Given the description of an element on the screen output the (x, y) to click on. 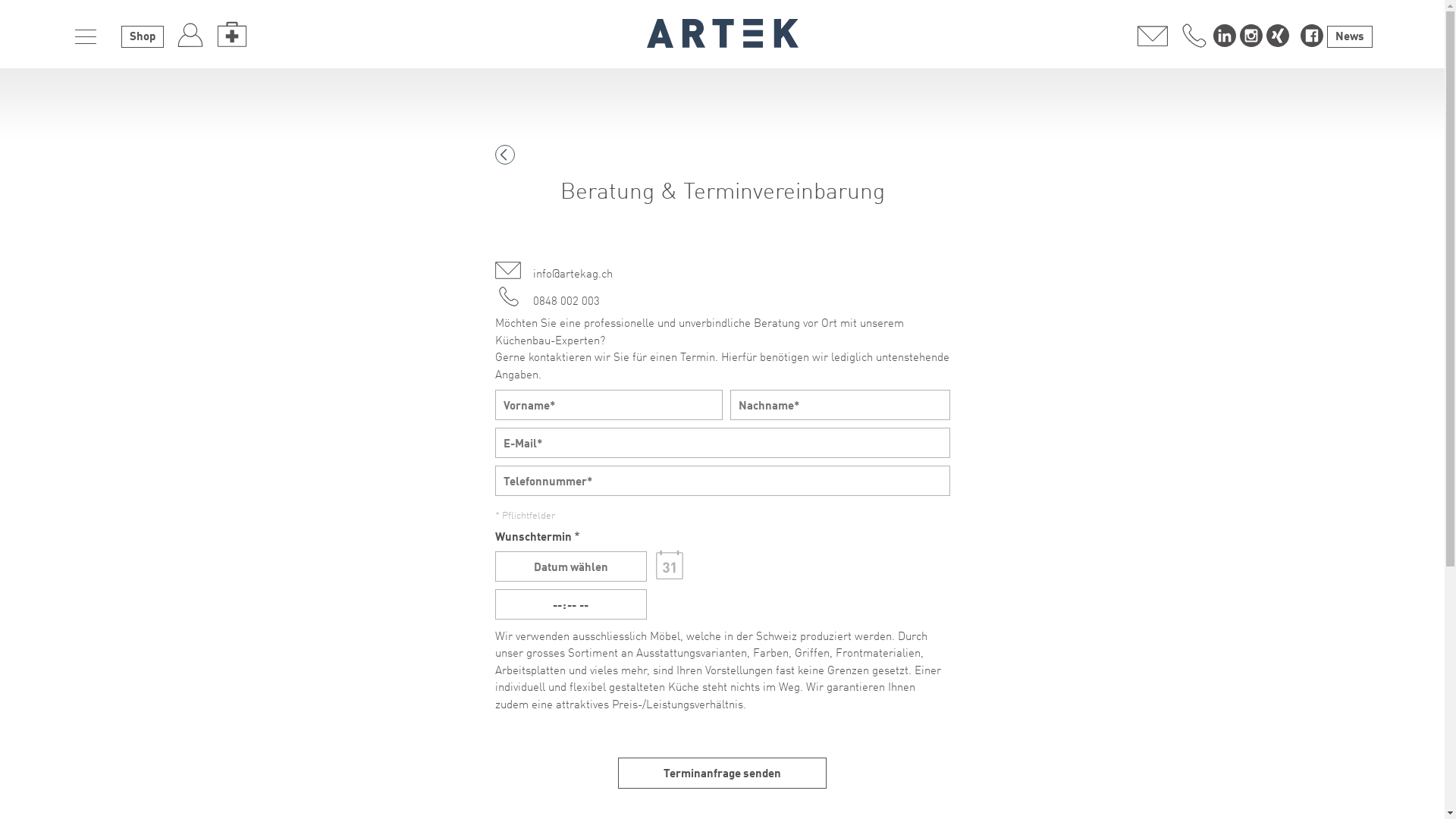
Mail Element type: text (1152, 33)
Instagram Element type: text (1250, 35)
0848 002 003 Element type: text (721, 296)
News Element type: text (1349, 36)
Enter a valid time - e.g. 06:02 Element type: hover (570, 604)
Terminanfrage senden Element type: text (722, 772)
LinkedIn Element type: text (1224, 35)
Enter a valid date - e.g. 24.11.2023 Element type: hover (570, 566)
XING Element type: text (1277, 35)
0848 002 003 Element type: text (1194, 33)
Facebook Element type: text (1311, 35)
Shop Element type: text (142, 36)
Hilfestellung Element type: text (231, 33)
Benutzer Element type: text (190, 33)
info@artekag.ch Element type: text (721, 269)
